Given the description of an element on the screen output the (x, y) to click on. 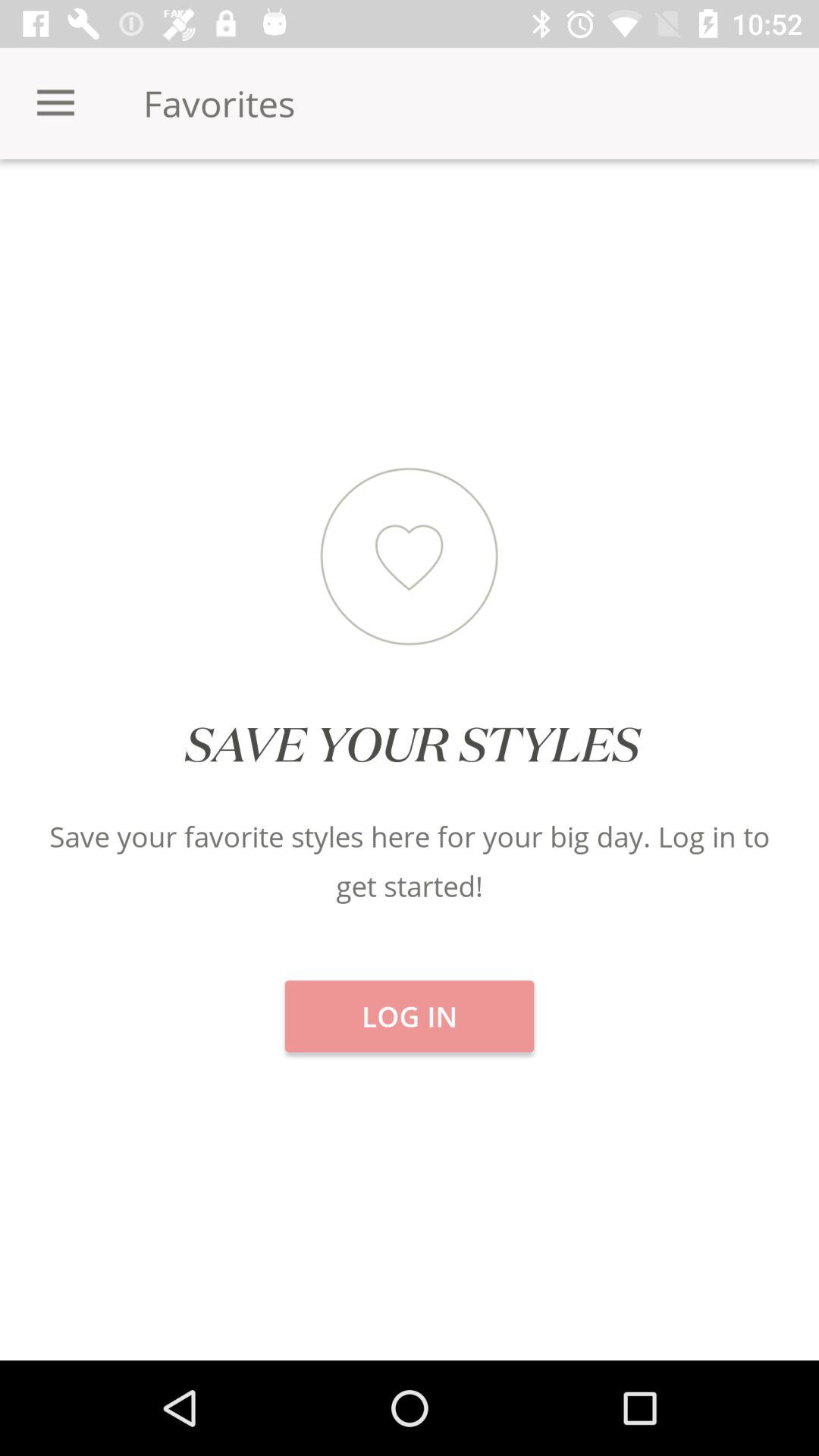
click the icon next to featured (136, 212)
